Given the description of an element on the screen output the (x, y) to click on. 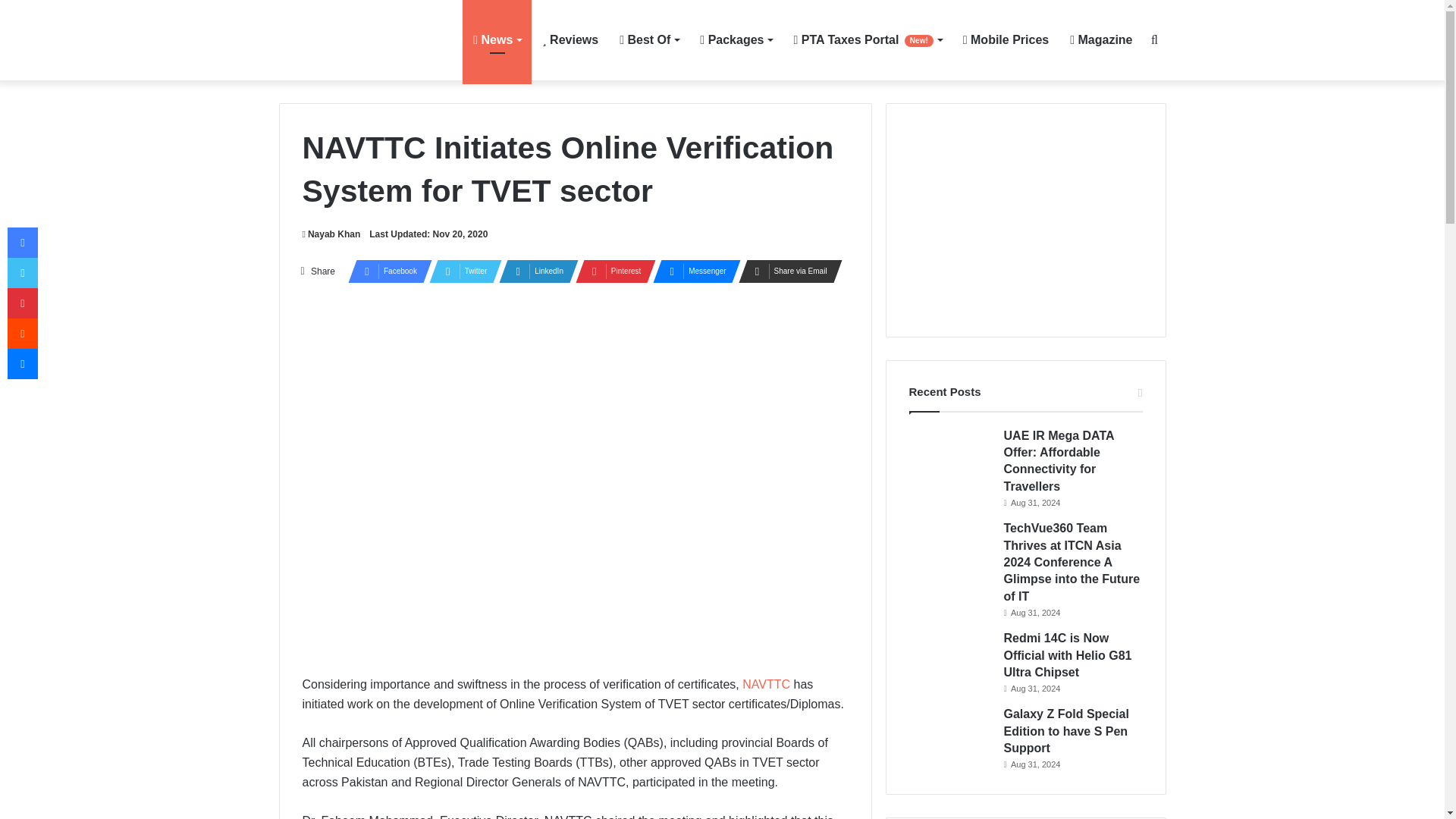
PTA Taxes Portal New! (867, 40)
LinkedIn (534, 271)
Best Of (648, 40)
Facebook (385, 271)
Mobile Prices (1005, 40)
Messenger (692, 271)
Magazine (1100, 40)
Packages (735, 40)
Reviews (569, 40)
Nayab Khan (330, 234)
